Given the description of an element on the screen output the (x, y) to click on. 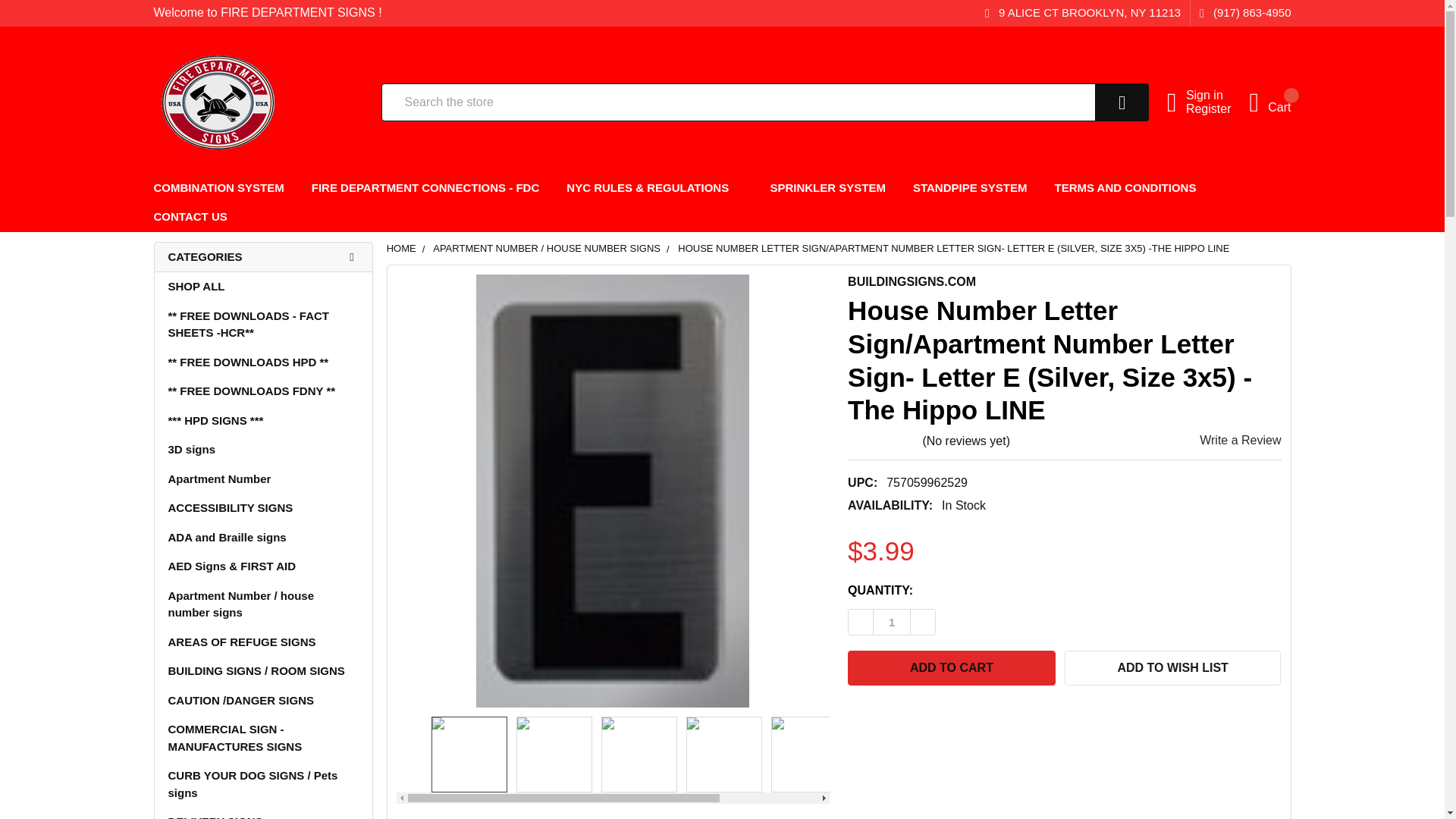
Cart (1269, 102)
Cart (1269, 102)
1 (891, 621)
Sign in (1217, 95)
Search (1101, 102)
Search (1101, 102)
Register (1217, 109)
APARTMENT NUMBER SIGNS (724, 754)
APARTMENT NUMBER SIGNS (808, 754)
Add to Cart (951, 667)
FIRE DEPARTMENT SIGNS  (218, 101)
